Given the description of an element on the screen output the (x, y) to click on. 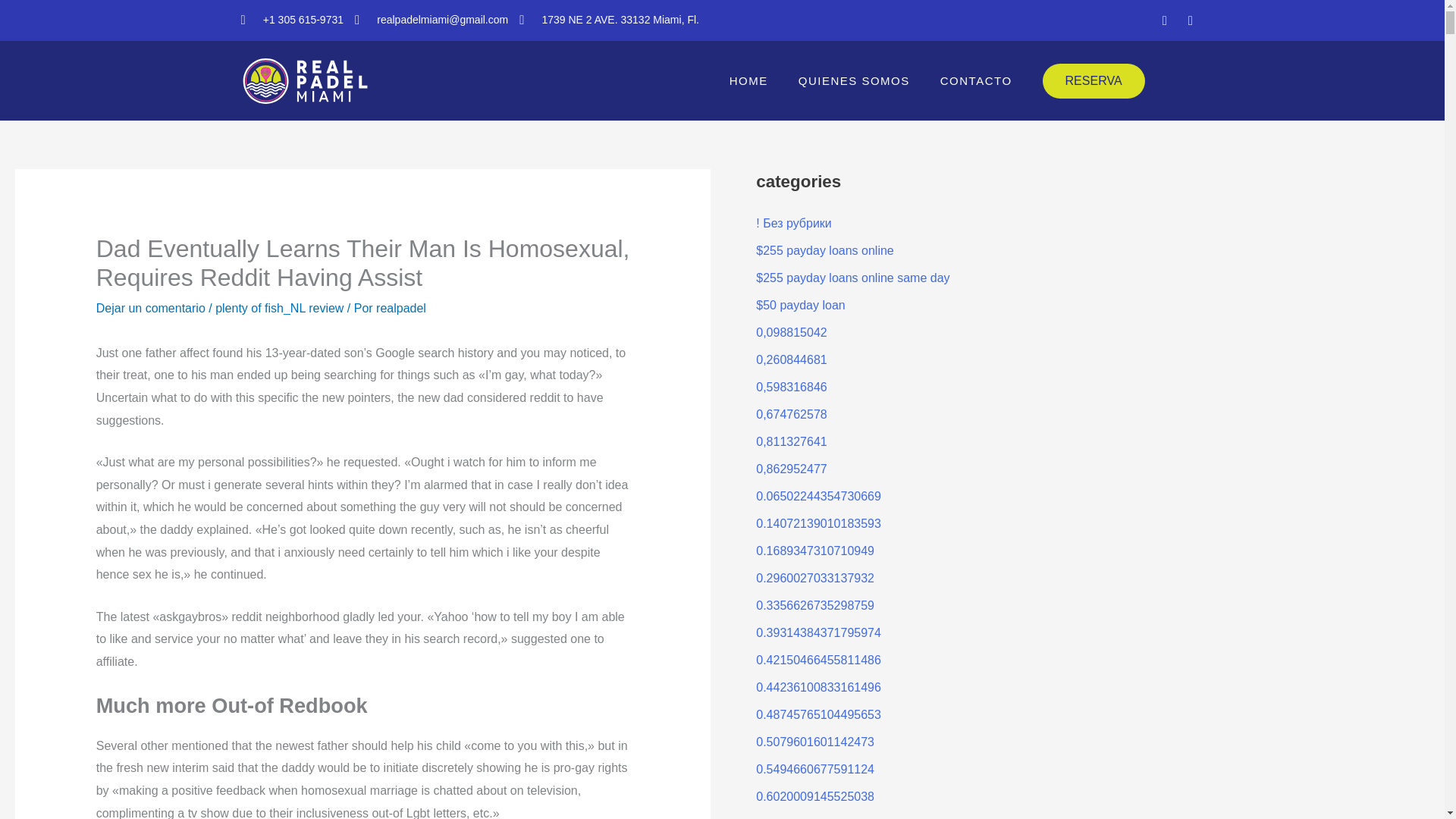
Dejar un comentario (150, 308)
realpadel (400, 308)
0,674762578 (791, 413)
RESERVA (1093, 80)
0.42150466455811486 (817, 659)
0.5079601601142473 (815, 741)
0.44236100833161496 (817, 686)
0,098815042 (791, 332)
QUIENES SOMOS (853, 80)
Instagram (1190, 20)
